Given the description of an element on the screen output the (x, y) to click on. 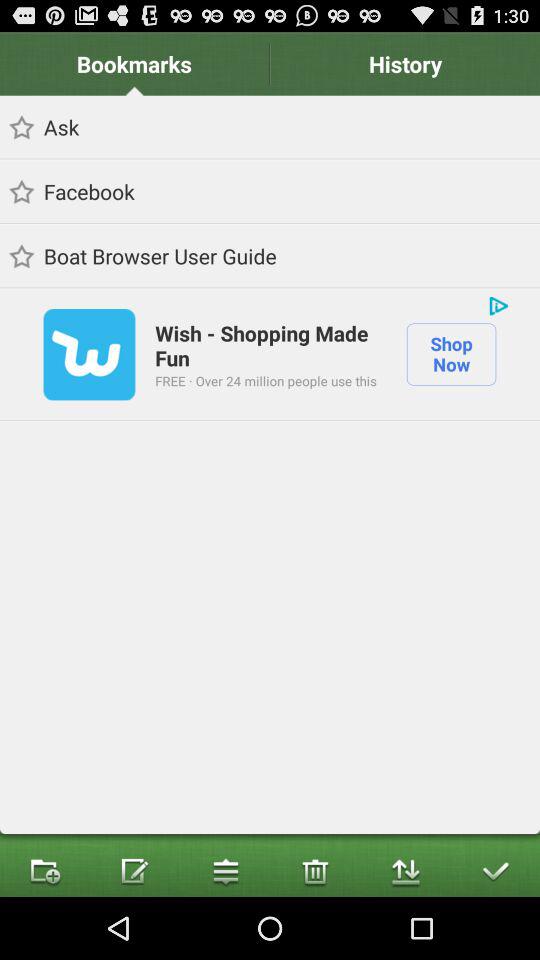
choose the item on the left (89, 354)
